Given the description of an element on the screen output the (x, y) to click on. 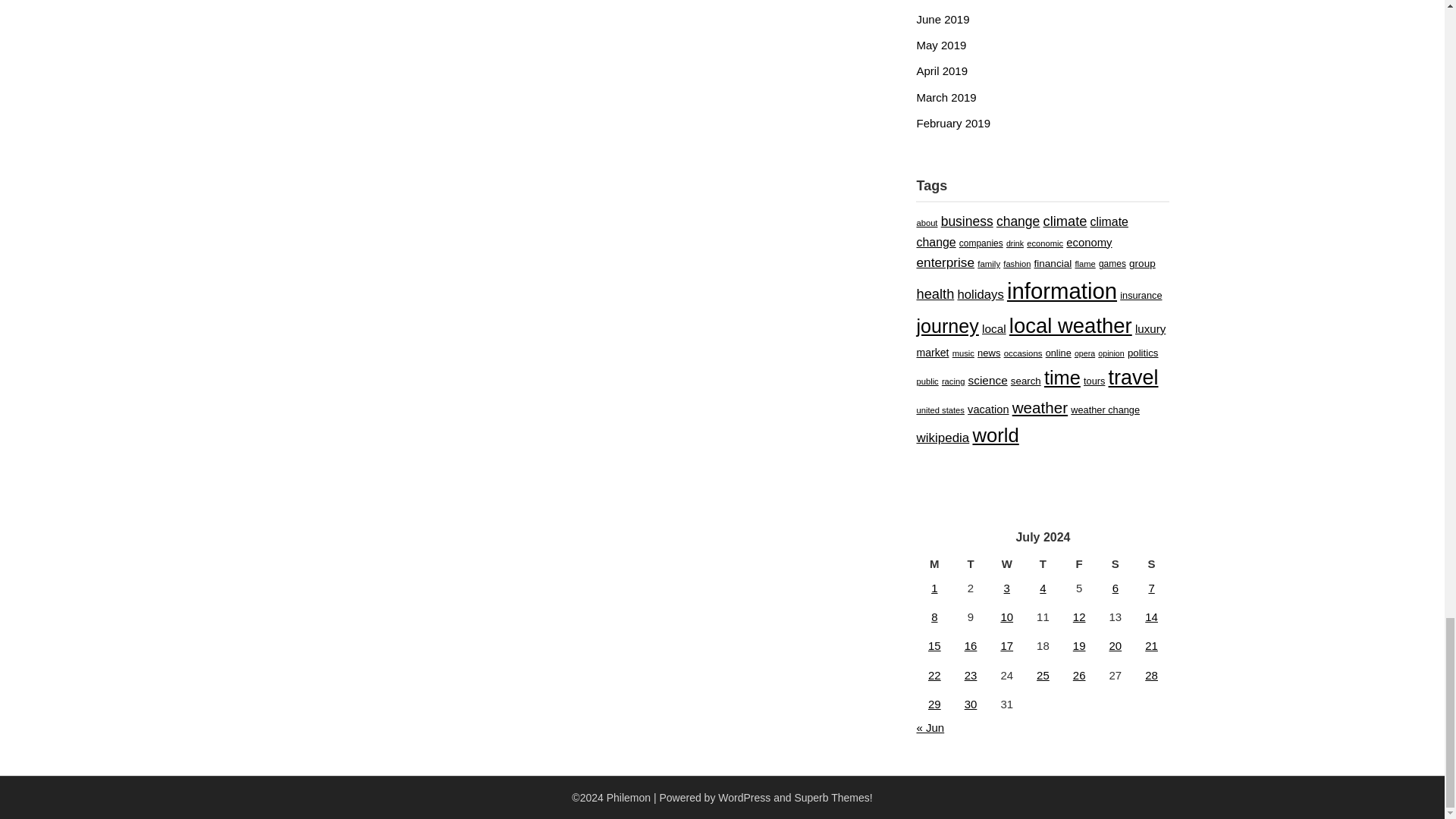
Sunday (1152, 564)
Saturday (1115, 564)
Wednesday (1006, 564)
Monday (933, 564)
Tuesday (970, 564)
Thursday (1043, 564)
Friday (1079, 564)
